Given the description of an element on the screen output the (x, y) to click on. 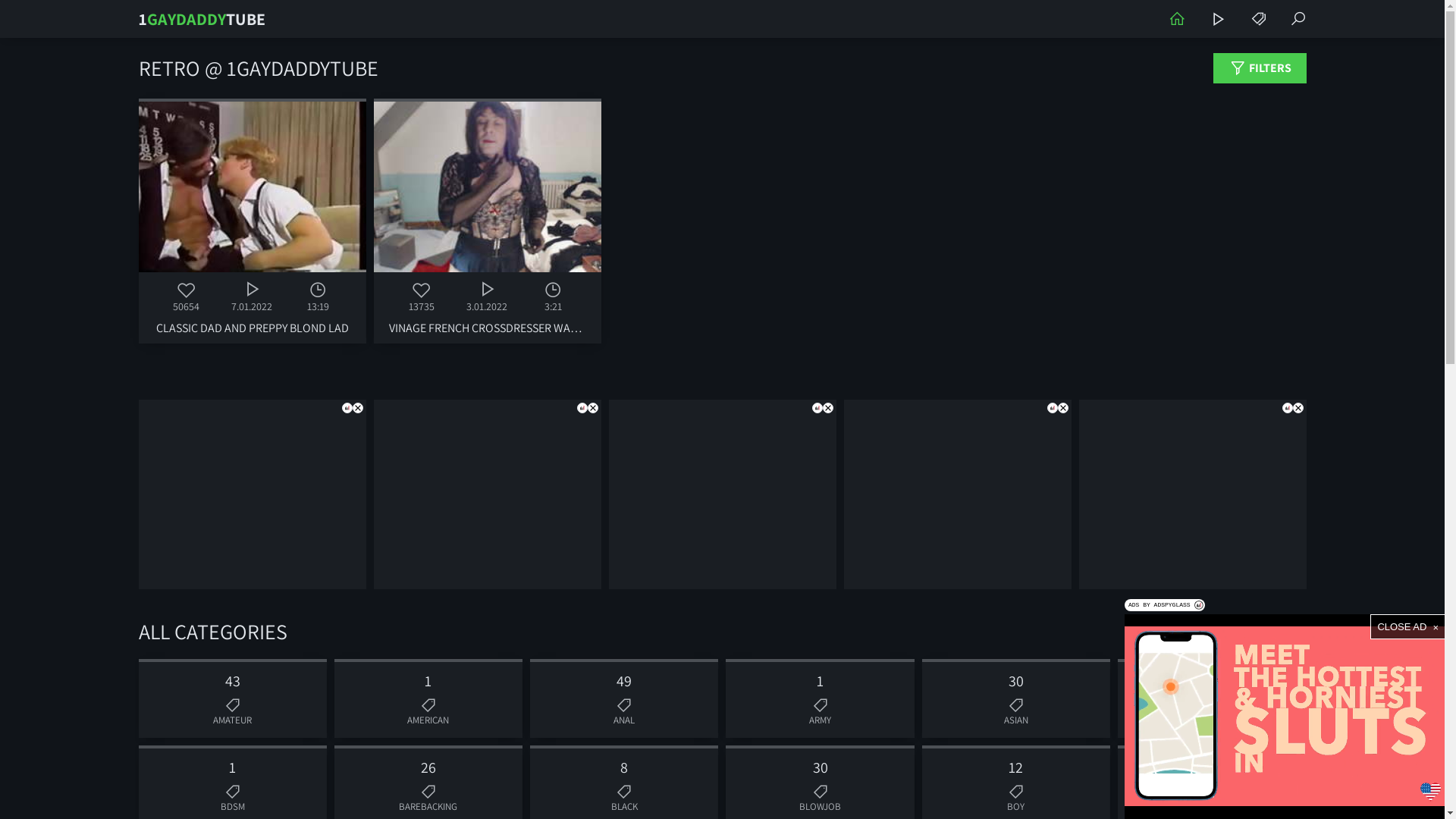
Search Element type: hover (1297, 18)
Porn Sites Element type: hover (1257, 18)
30
ASIAN Element type: text (1016, 697)
10
ASS Element type: text (1211, 697)
1
ARMY Element type: text (819, 697)
1
AMERICAN Element type: text (428, 697)
ADS BY ADSPYGLASS Element type: text (1164, 605)
Home Element type: hover (1175, 18)
50654
7.01.2022
13:19
CLASSIC DAD AND PREPPY BLOND LAD Element type: text (251, 220)
1GAYDADDYTUBE Element type: text (201, 18)
49
ANAL Element type: text (624, 697)
Gay Daddy Cam Element type: hover (1216, 18)
43
AMATEUR Element type: text (232, 697)
